Given the description of an element on the screen output the (x, y) to click on. 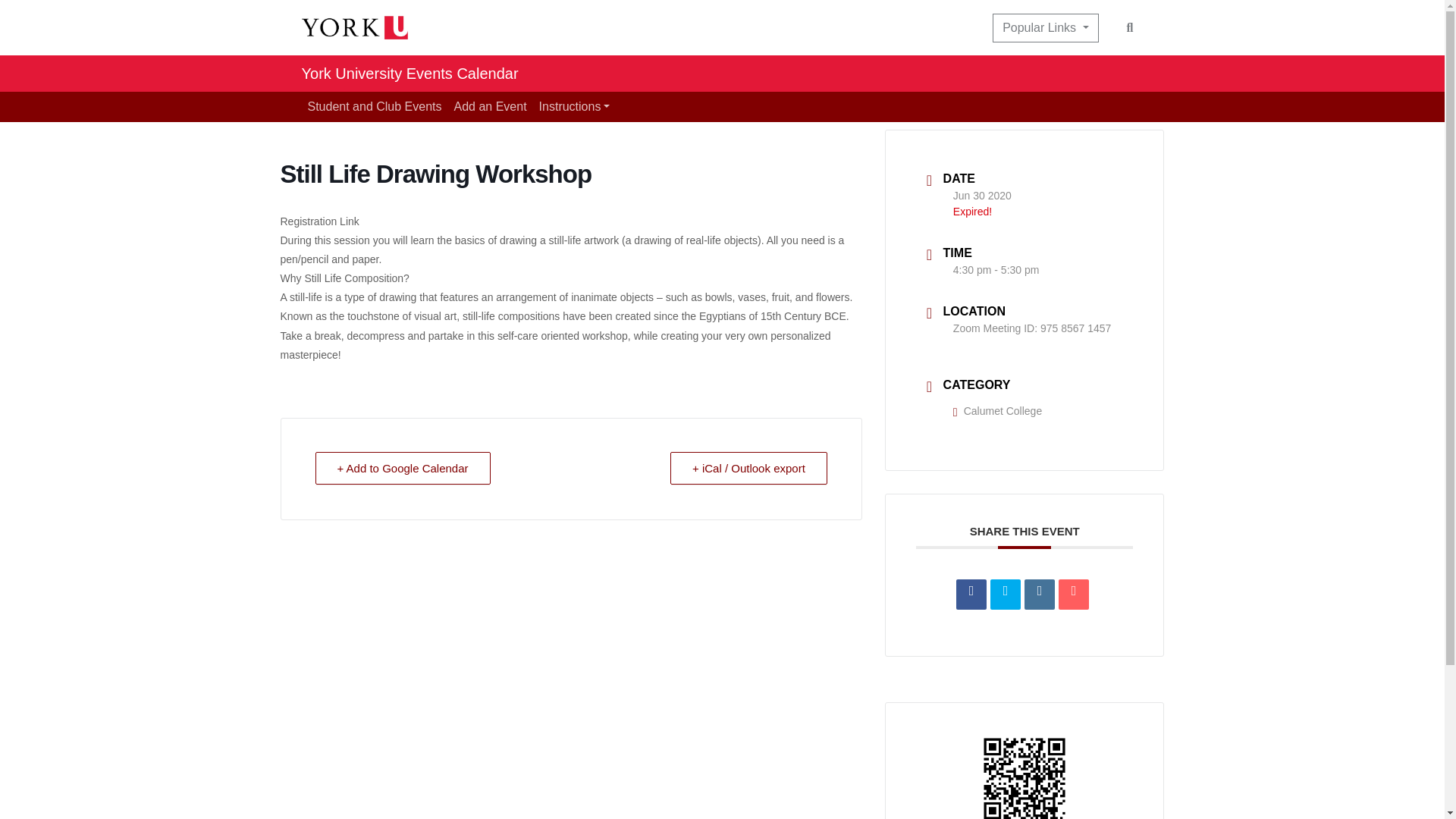
Share on Facebook (971, 594)
Email (1073, 594)
Popular Links (1044, 27)
Linkedin (1039, 594)
Instructions (573, 106)
Add an Event (490, 106)
York University Events Calendar (409, 73)
Tweet (1005, 594)
Student and Club Events (374, 106)
Search (1129, 27)
Calumet College (997, 410)
